Given the description of an element on the screen output the (x, y) to click on. 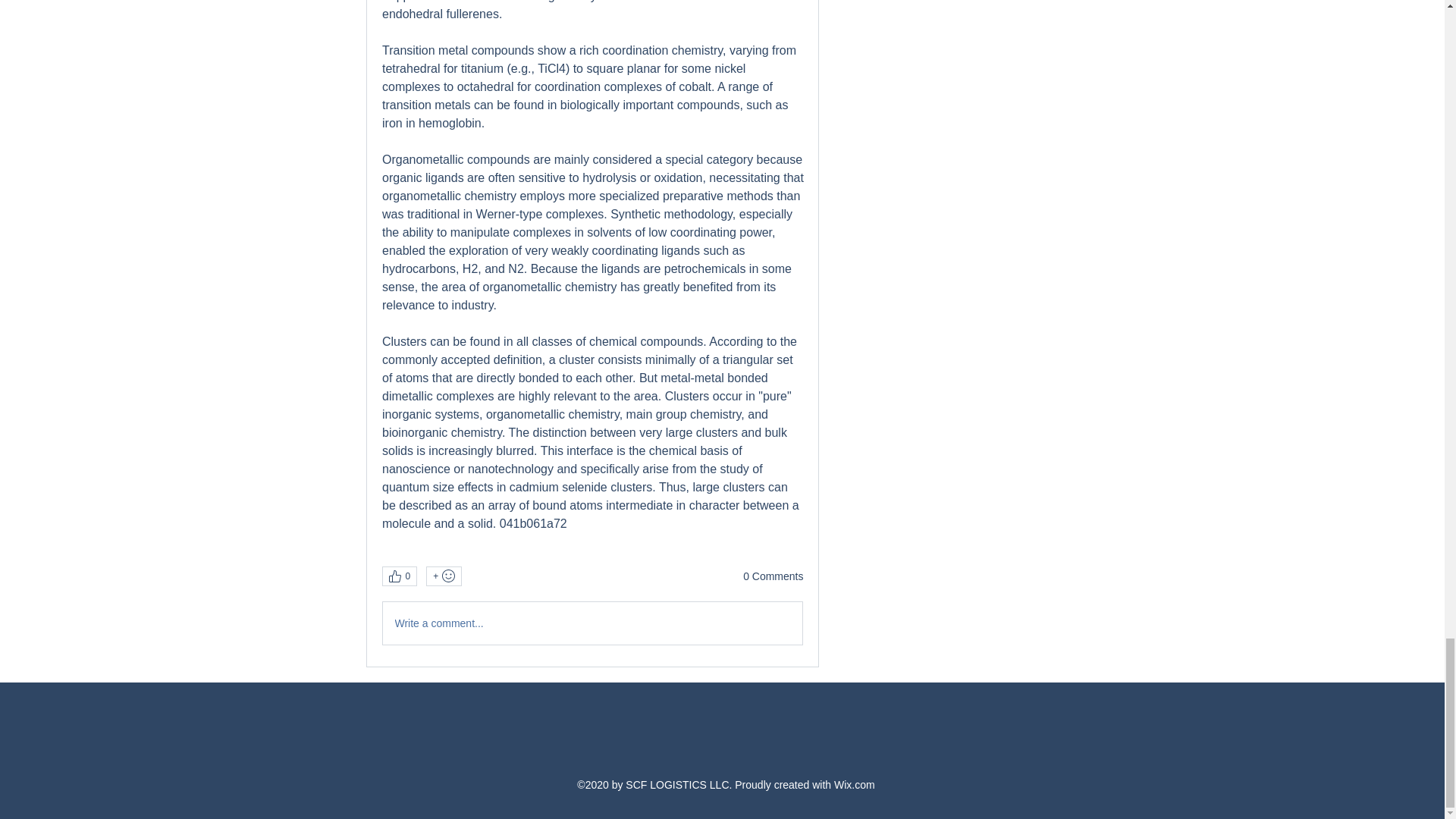
Write a comment... (591, 622)
0 Comments (772, 576)
